Given the description of an element on the screen output the (x, y) to click on. 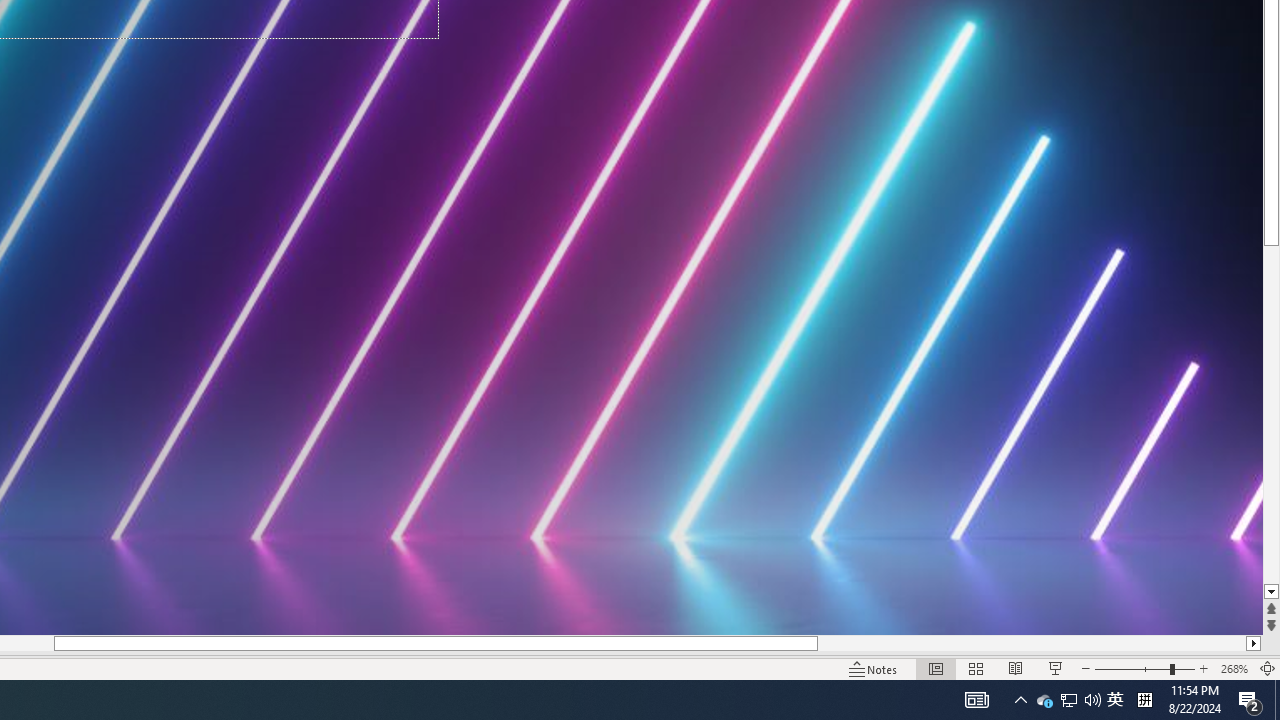
Zoom 268% (1234, 668)
